Given the description of an element on the screen output the (x, y) to click on. 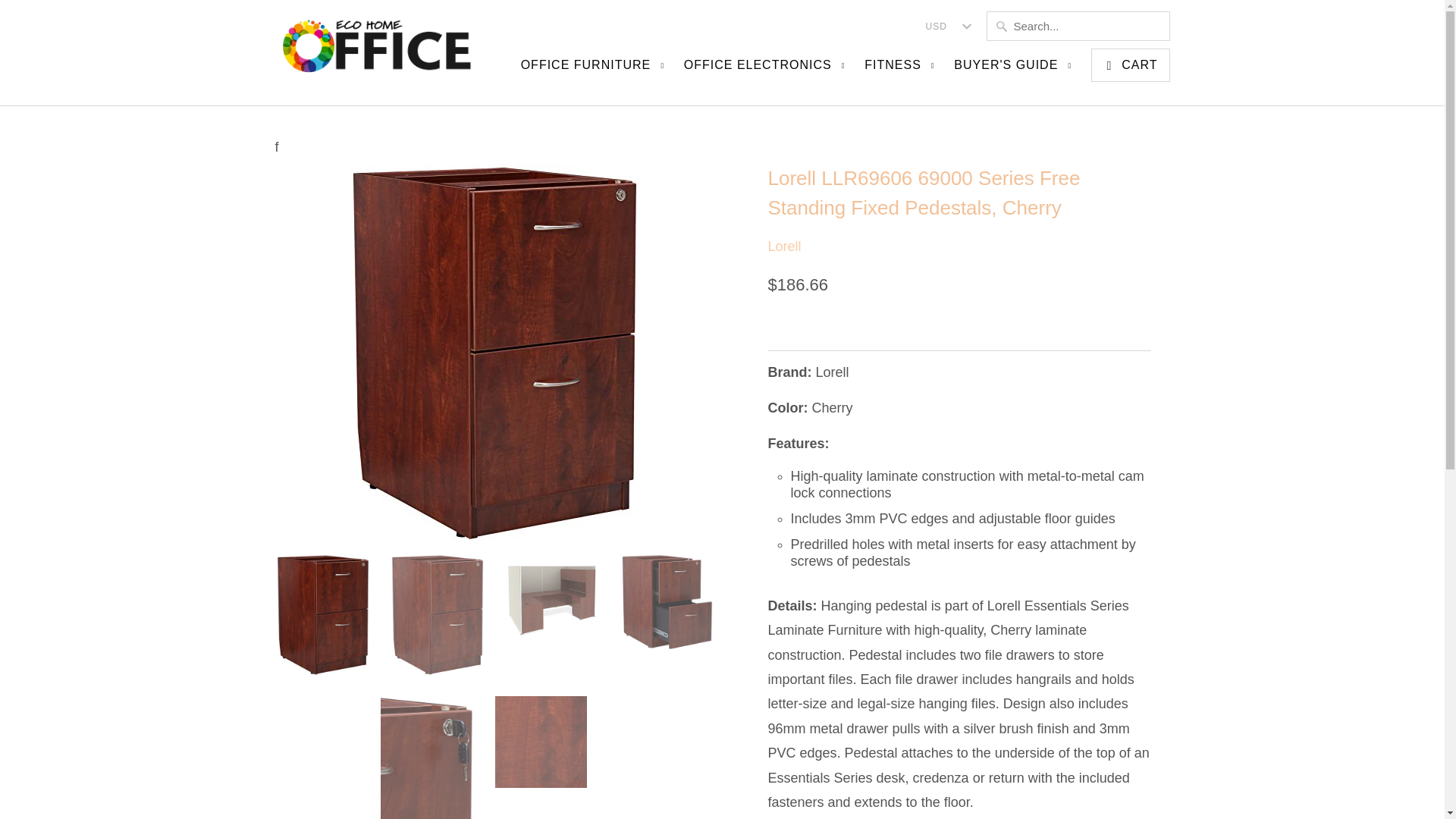
OFFICE FURNITURE (594, 69)
FITNESS (900, 69)
Cart (1130, 64)
BUYER'S GUIDE (1014, 69)
Lorell (783, 246)
CART (1130, 64)
Eco home office (376, 52)
OFFICE ELECTRONICS (766, 69)
